Given the description of an element on the screen output the (x, y) to click on. 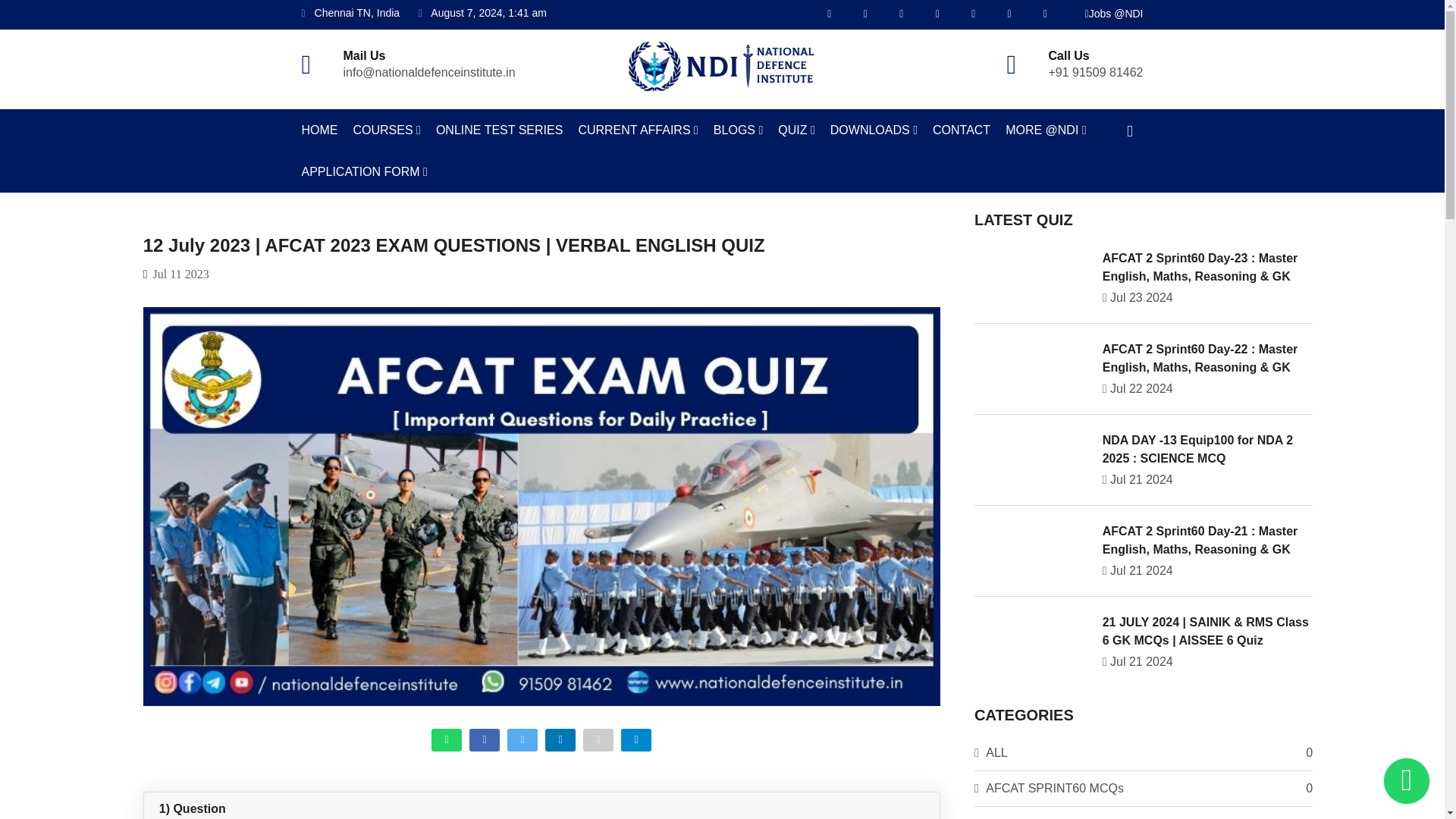
DOWNLOADS (873, 129)
ONLINE TEST SERIES (498, 129)
CURRENT AFFAIRS (637, 129)
QUIZ (796, 129)
BLOGS (737, 129)
CONTACT (961, 129)
COURSES (386, 129)
